Given the description of an element on the screen output the (x, y) to click on. 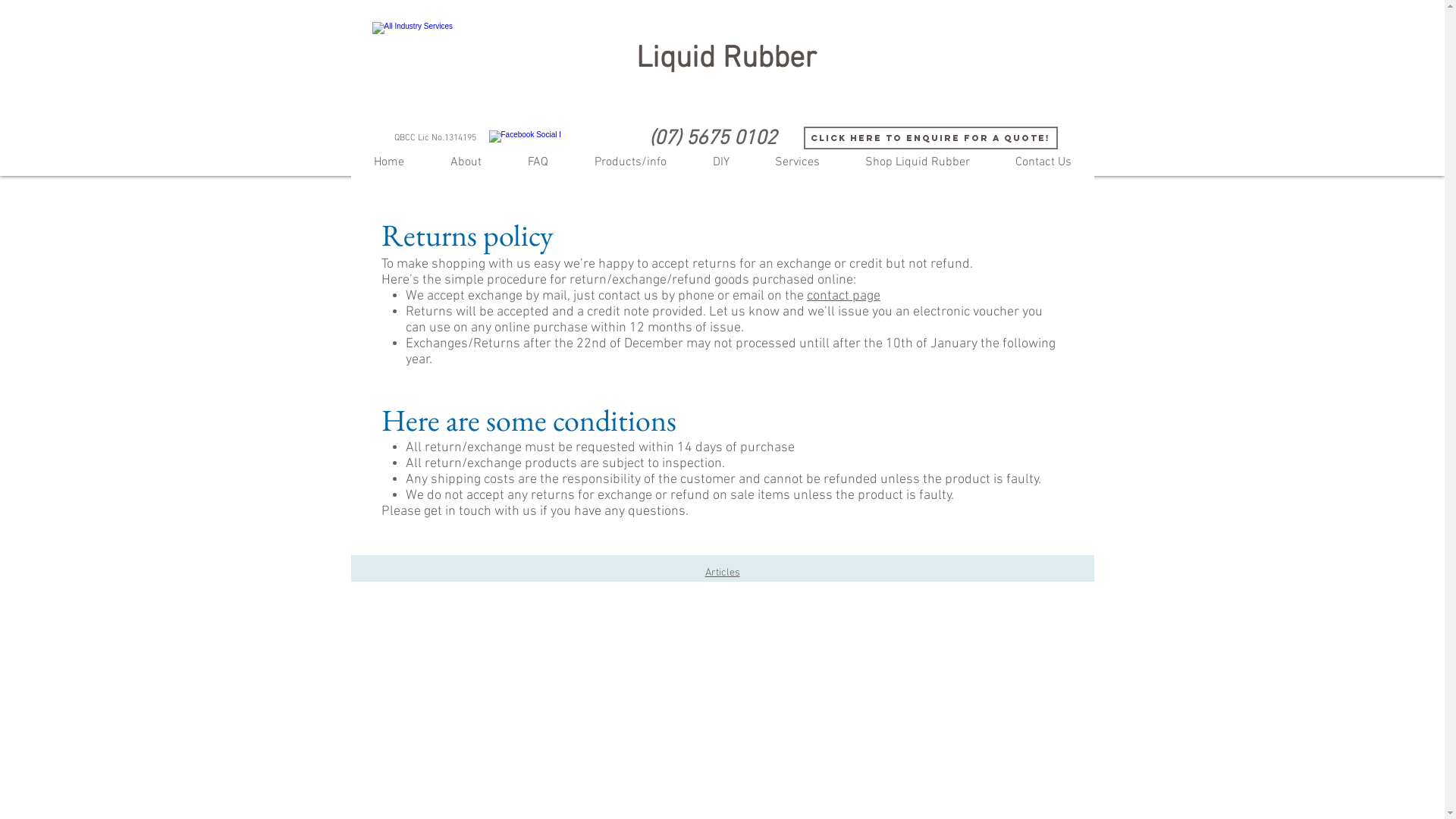
Embedded Content Element type: hover (232, 272)
Articles Element type: text (722, 572)
Home Element type: text (388, 161)
Contact Us Element type: text (1042, 161)
contact page Element type: text (843, 296)
Services Element type: text (797, 161)
Products/info Element type: text (630, 161)
DIY Element type: text (721, 161)
FAQ Element type: text (538, 161)
Shop Liquid Rubber Element type: text (916, 161)
Click here to enquire for a quote! Element type: text (930, 137)
Image of All Industry Services Logo Element type: hover (433, 52)
About Element type: text (466, 161)
